Given the description of an element on the screen output the (x, y) to click on. 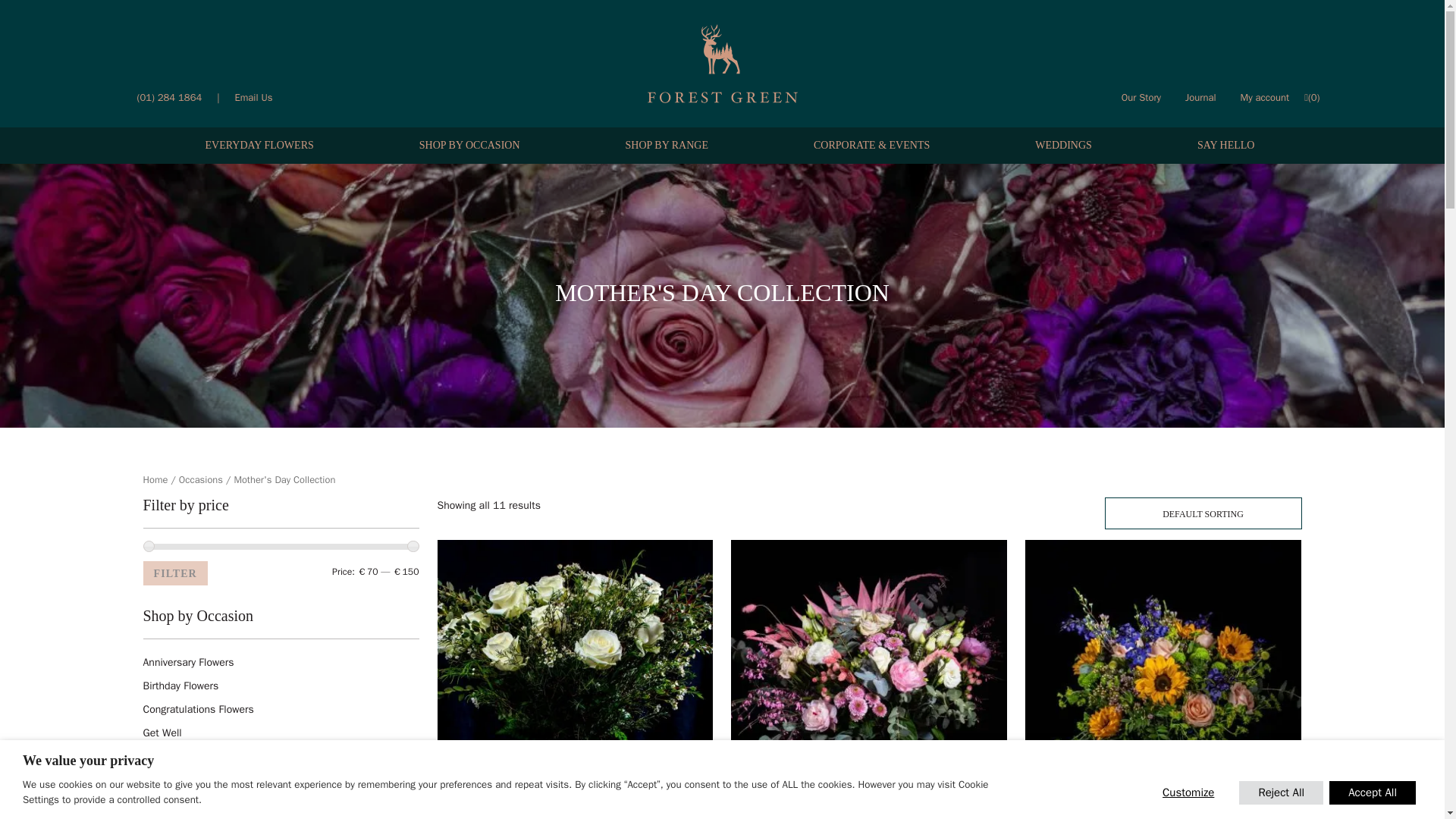
SHOP BY RANGE (667, 145)
View your shopping cart (1313, 97)
Our Story (1141, 97)
SAY HELLO (1225, 145)
WEDDINGS (1063, 145)
Journal (1201, 97)
EVERYDAY FLOWERS (258, 145)
My account (1264, 97)
SHOP BY OCCASION (469, 145)
Shop by Occasion (469, 145)
